Given the description of an element on the screen output the (x, y) to click on. 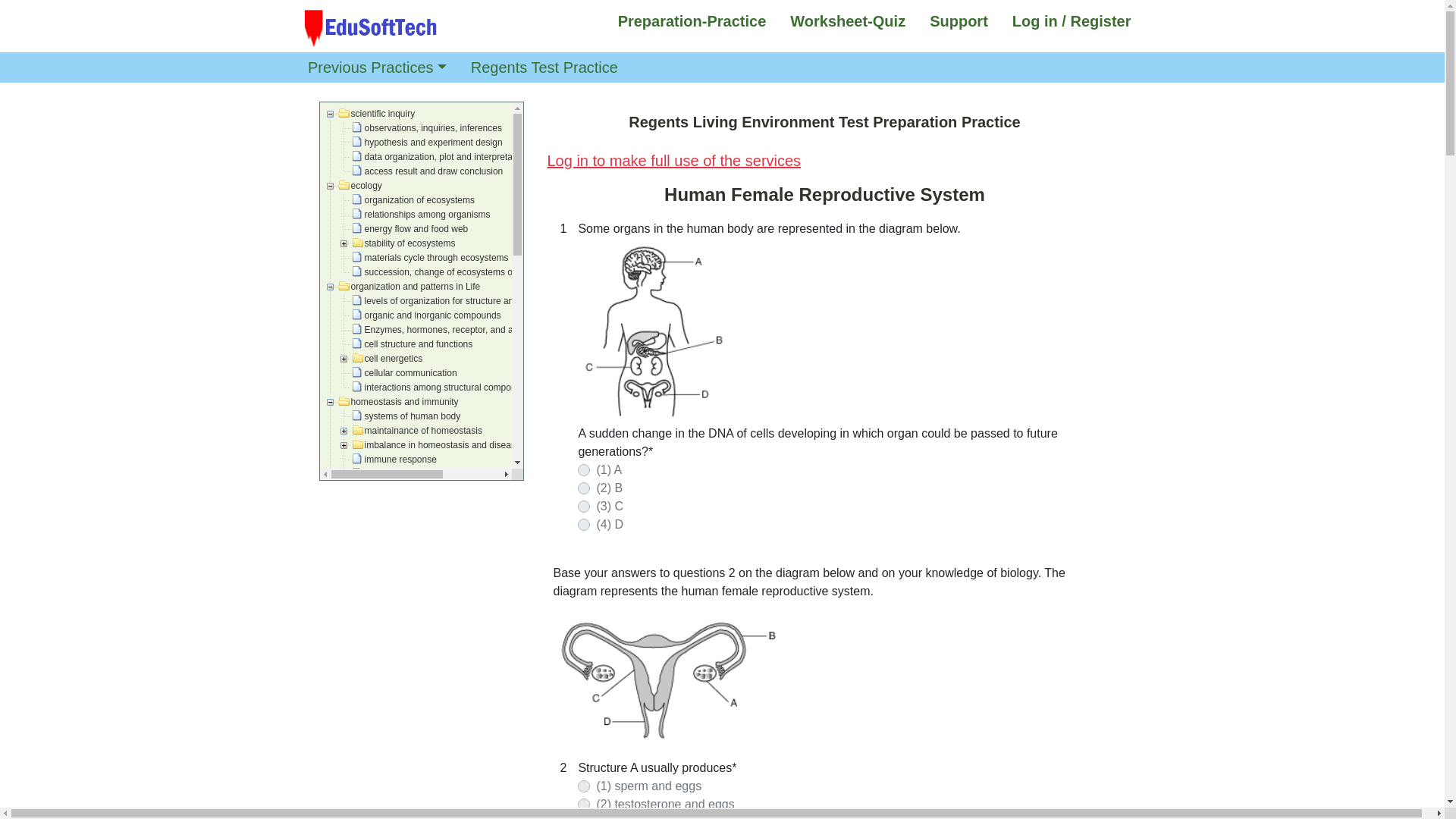
defferentiation and embryonic development (445, 545)
scientific inquiry (377, 113)
State Regents Test Practice, Worksheet, Quiz (371, 26)
Enzymes, hormones, receptor, and antibodies (451, 329)
cell energetics (388, 358)
hypothesis and experiment design (427, 142)
observations, inquiries, inferences (427, 127)
systems of human body (407, 415)
access result and draw conclusion (428, 170)
cellular communication (405, 372)
